Given the description of an element on the screen output the (x, y) to click on. 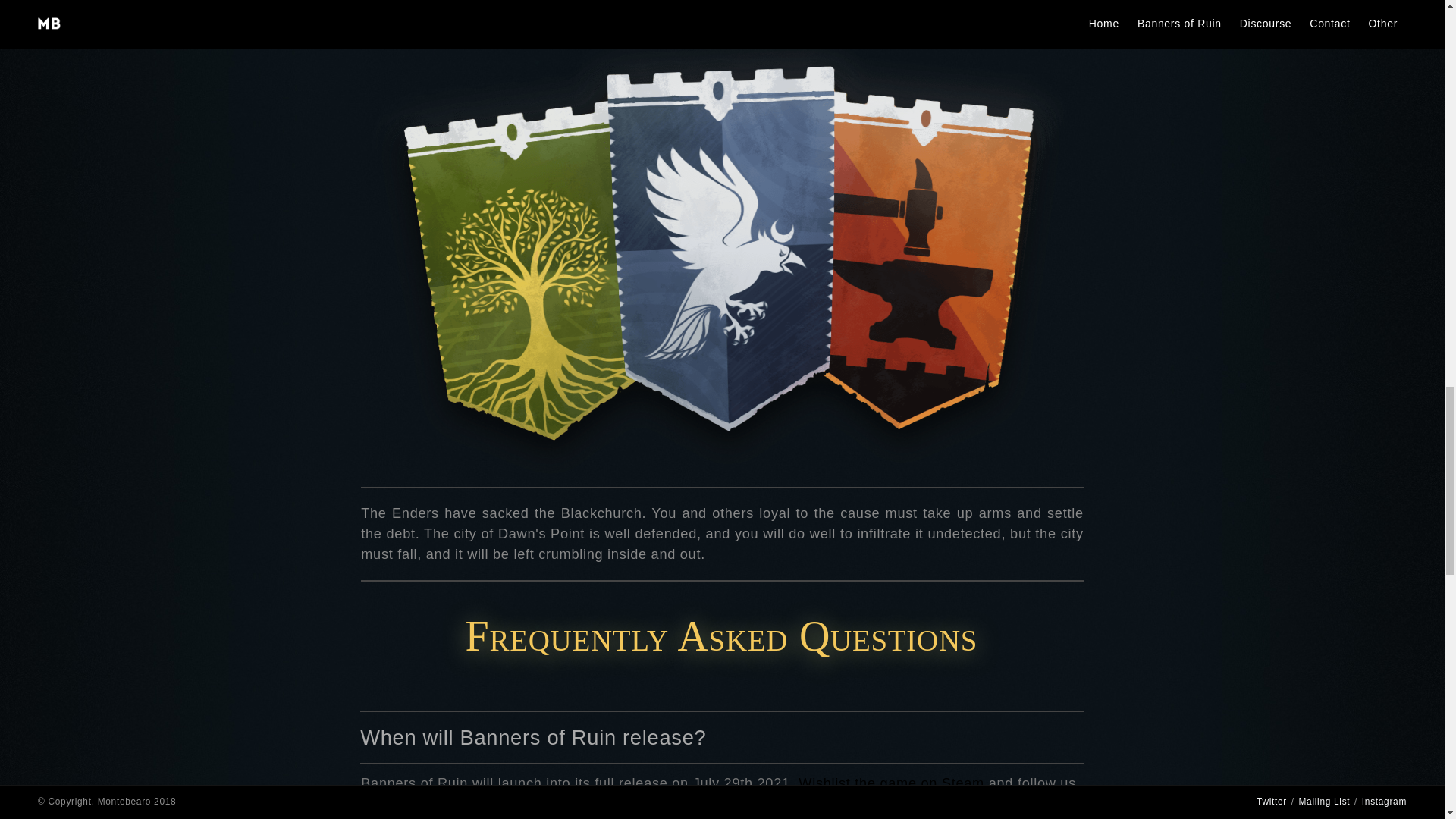
Twitter (403, 804)
Wishlist the game on Steam (890, 783)
